Given the description of an element on the screen output the (x, y) to click on. 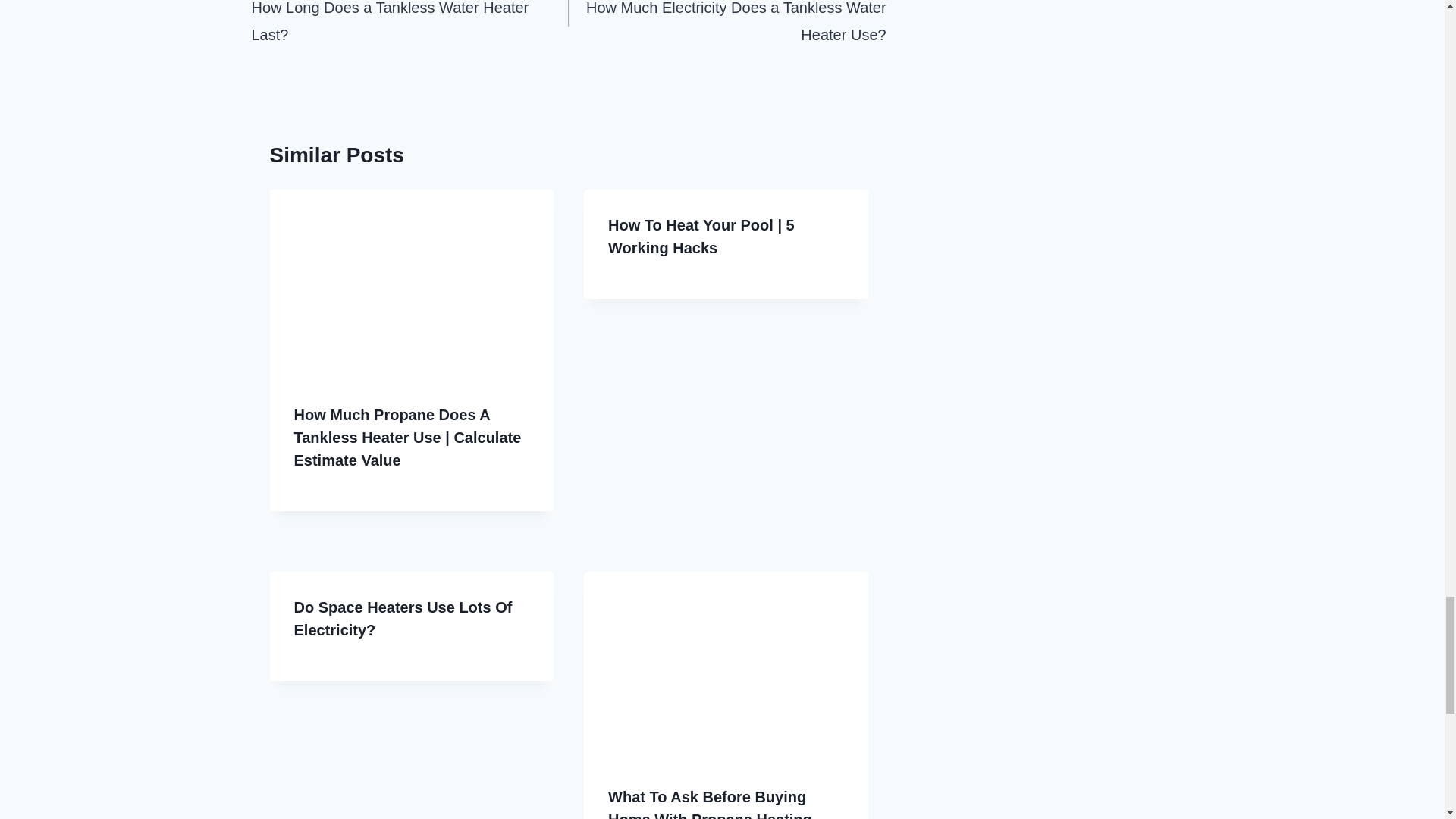
Do Space Heaters Use Lots Of Electricity? (403, 618)
